Given the description of an element on the screen output the (x, y) to click on. 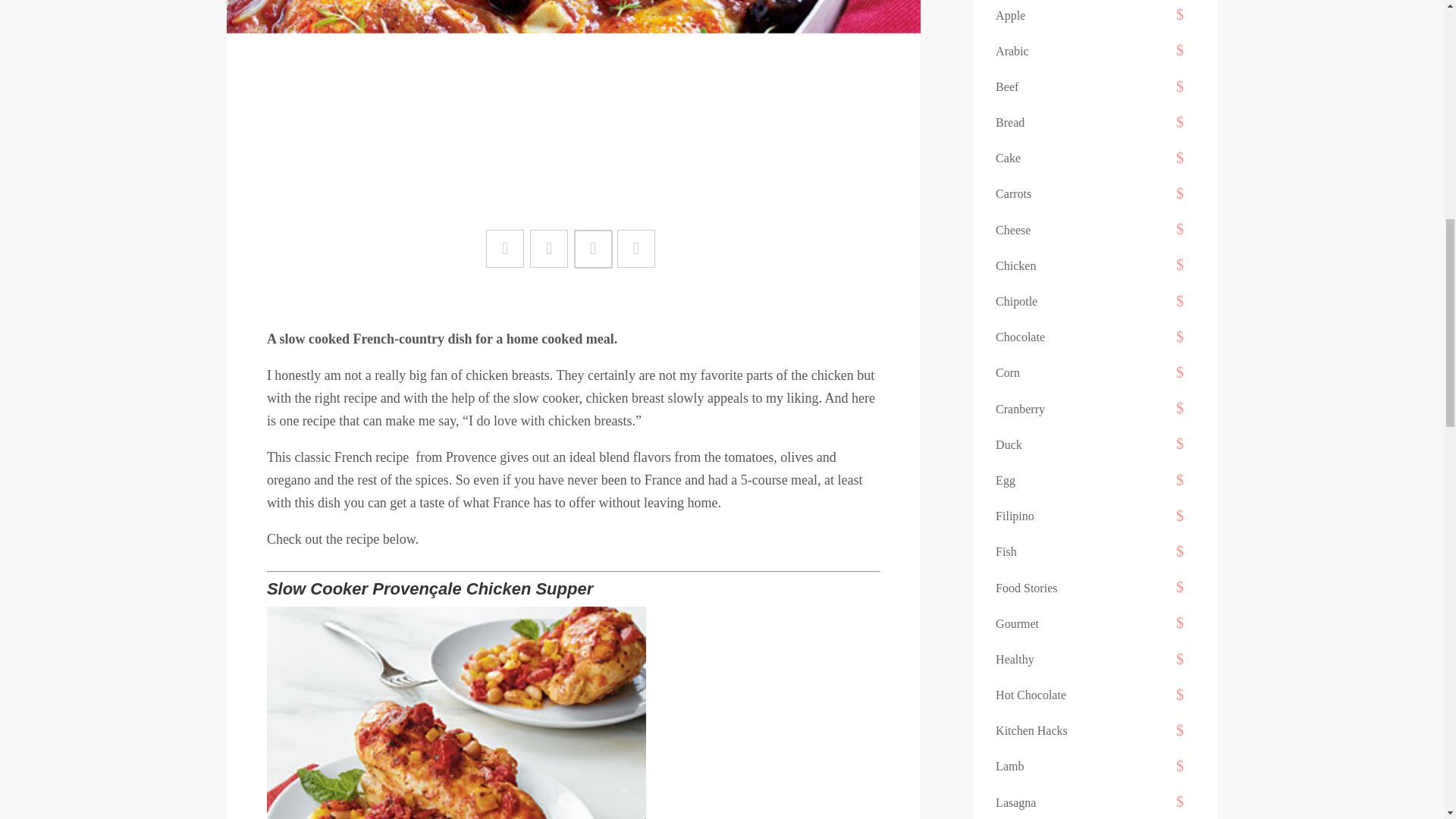
Chipotle (1015, 300)
Beef (1006, 86)
Arabic (1012, 51)
Egg (1004, 480)
Duck (1008, 444)
Cake (1007, 157)
Chocolate (1020, 336)
Chicken (1015, 265)
Bread (1010, 122)
Email this article (636, 248)
